Given the description of an element on the screen output the (x, y) to click on. 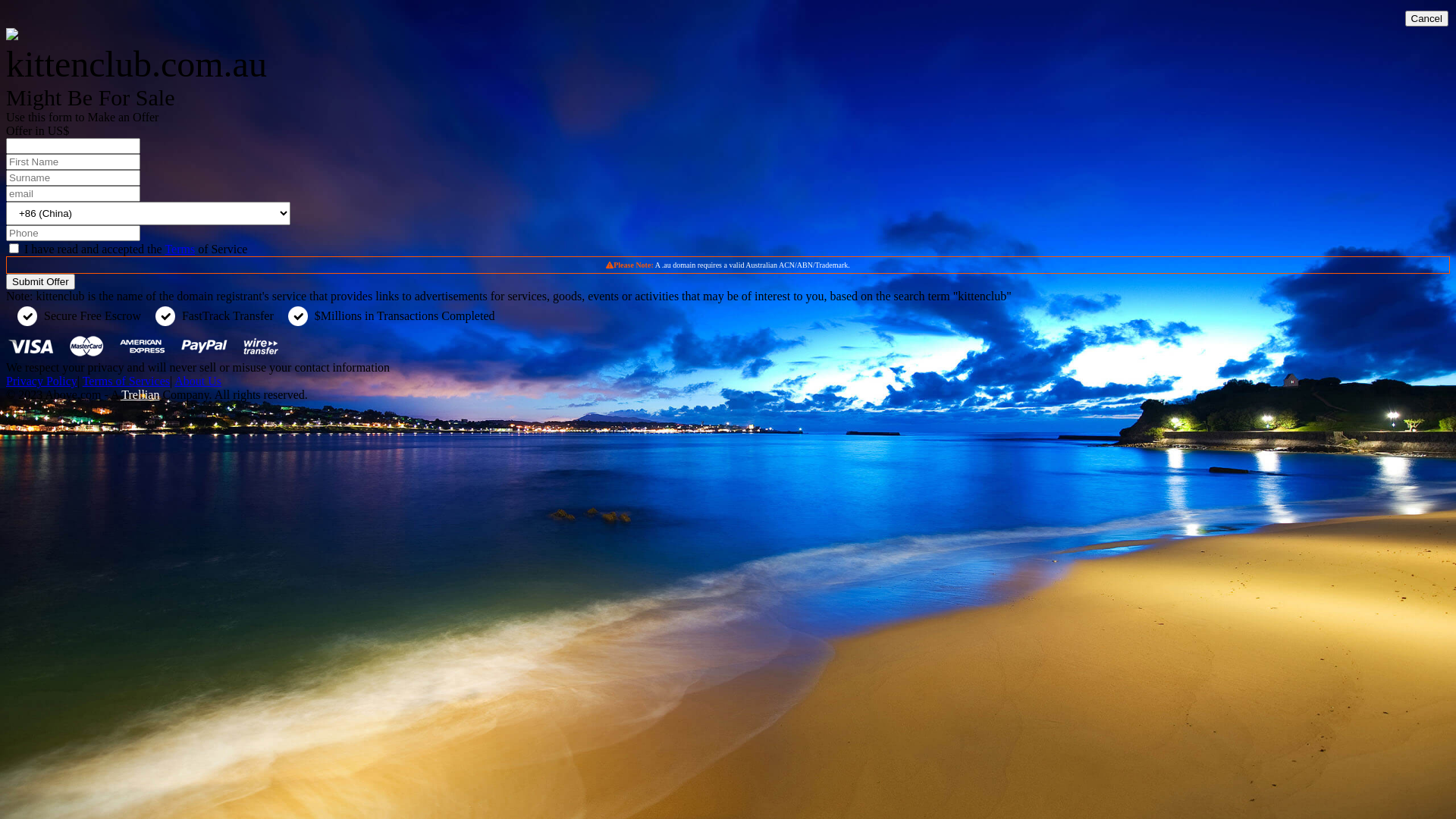
Cancel Element type: text (1426, 18)
Submit Offer Element type: text (40, 281)
Terms Element type: text (179, 248)
Trellian Element type: text (140, 394)
Terms of Services Element type: text (125, 380)
About Us Element type: text (197, 380)
Privacy Policy Element type: text (41, 380)
